Given the description of an element on the screen output the (x, y) to click on. 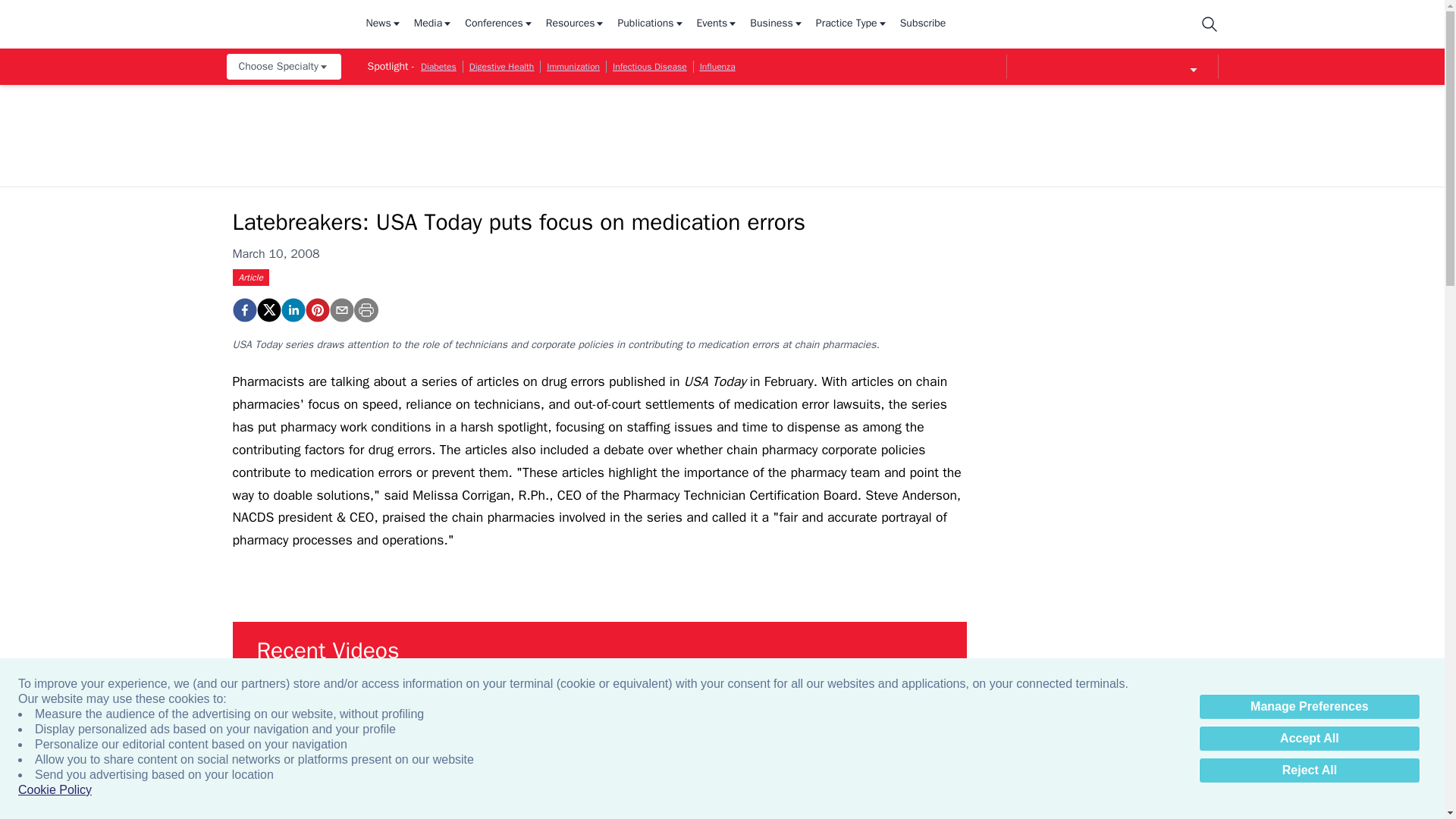
News (383, 23)
Events (717, 23)
Cookie Policy (54, 789)
Latebreakers: USA Today puts focus on medication errors (243, 310)
Business (776, 23)
Manage Preferences (1309, 706)
Conferences (499, 23)
Accept All (1309, 738)
Publications (650, 23)
